Given the description of an element on the screen output the (x, y) to click on. 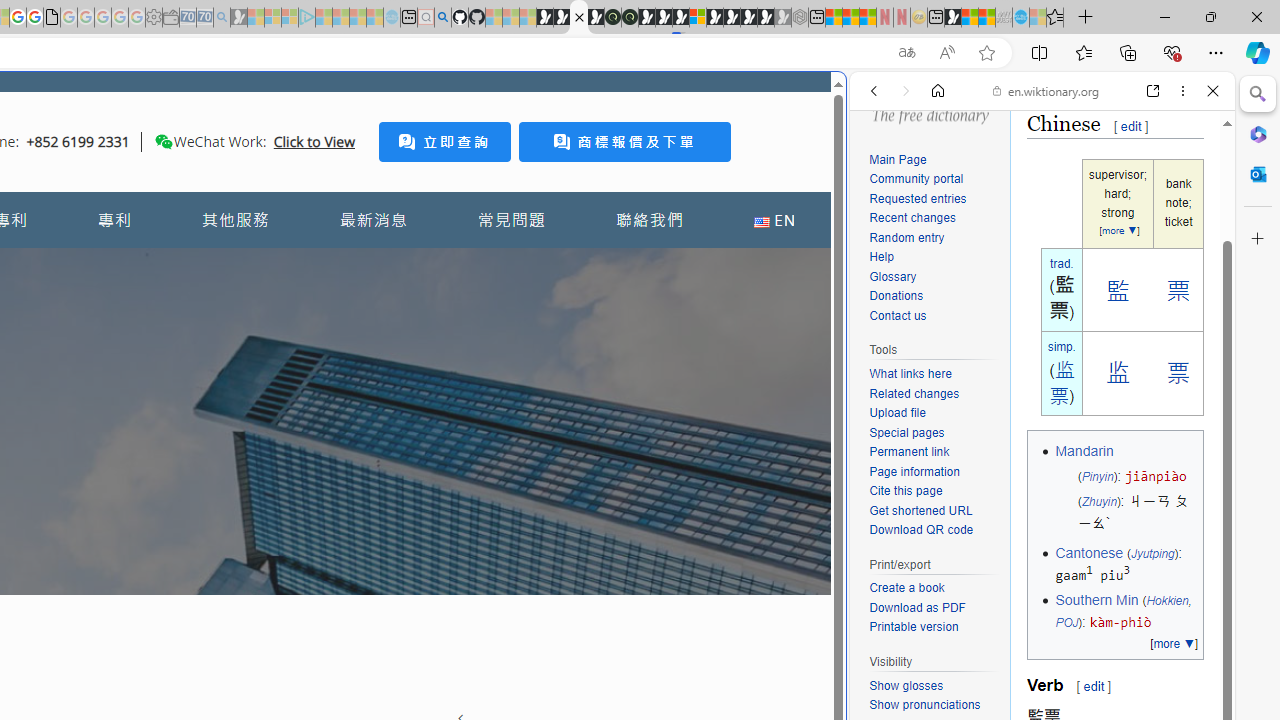
Microsoft Start Gaming - Sleeping (238, 17)
Search Filter, Search Tools (1093, 228)
Earth has six continents not seven, radical new study claims (986, 17)
Main Page (934, 160)
Class: desktop (163, 141)
